Given the description of an element on the screen output the (x, y) to click on. 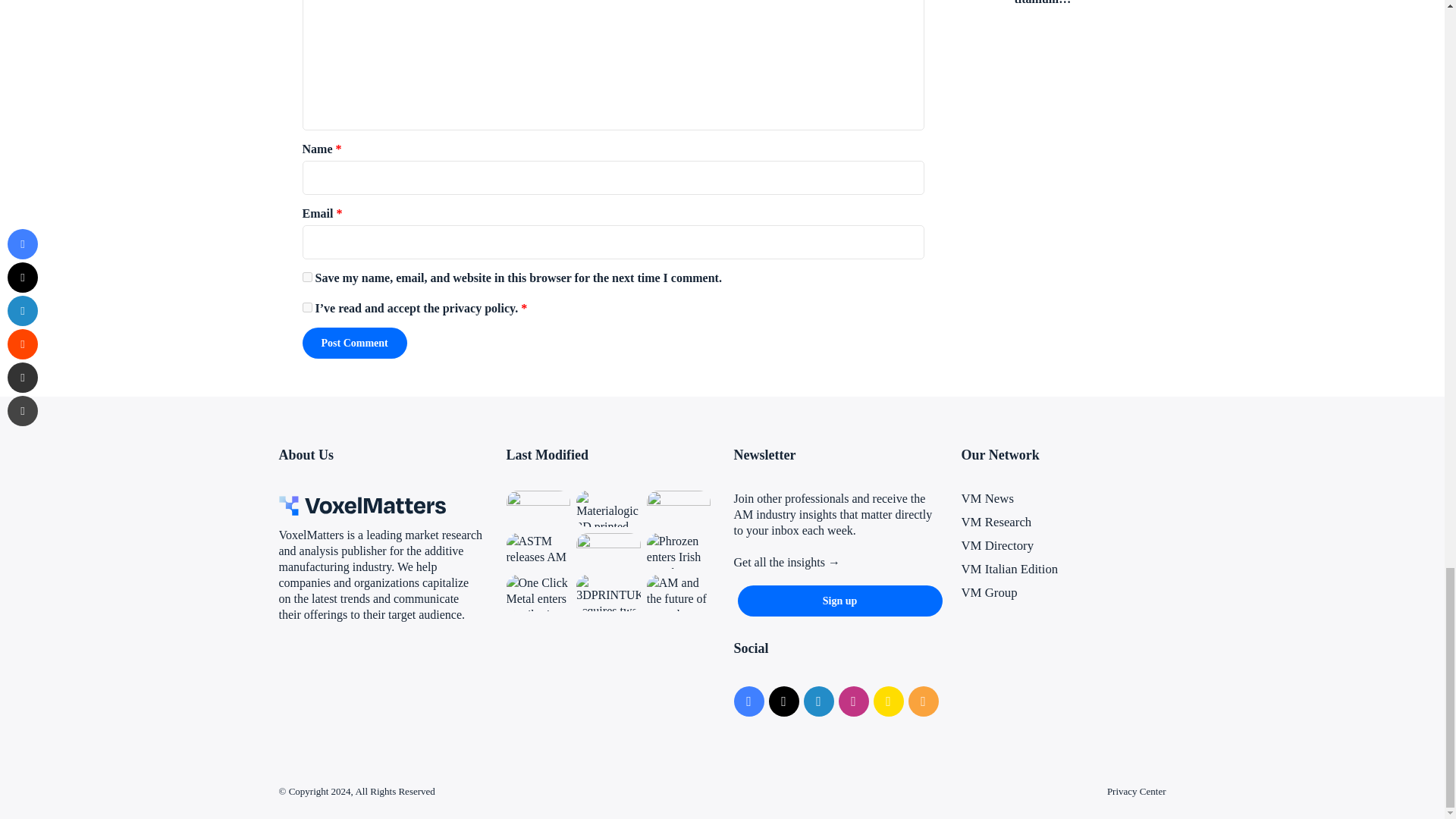
on (306, 307)
yes (306, 276)
Post Comment (353, 342)
Sign up (839, 600)
